Given the description of an element on the screen output the (x, y) to click on. 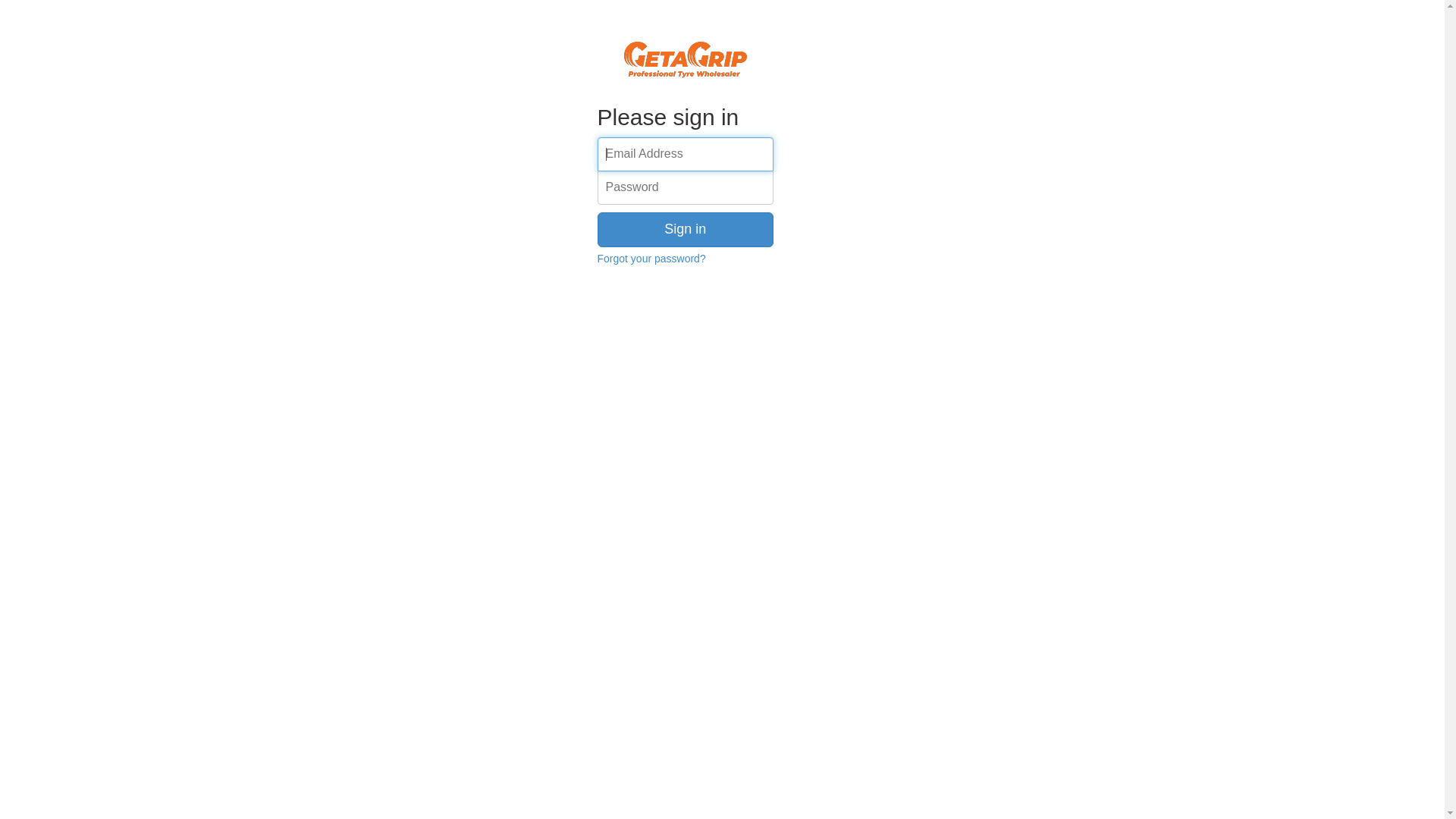
Sign in Element type: text (685, 229)
Forgot your password? Element type: text (651, 258)
